Given the description of an element on the screen output the (x, y) to click on. 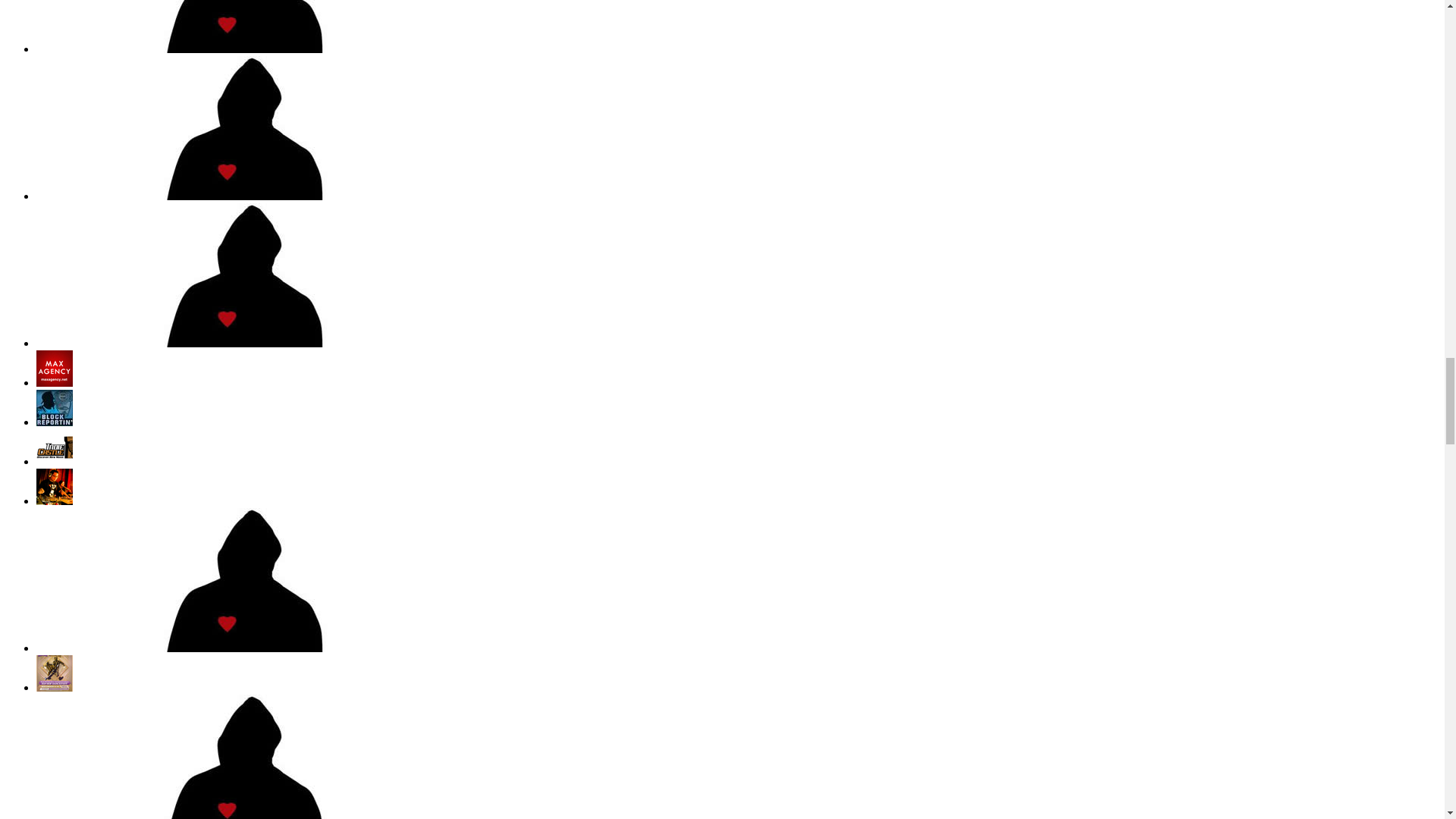
Oakstop Coworking (233, 195)
Stephanie Ornelas (233, 342)
LukasOakland (233, 48)
